Given the description of an element on the screen output the (x, y) to click on. 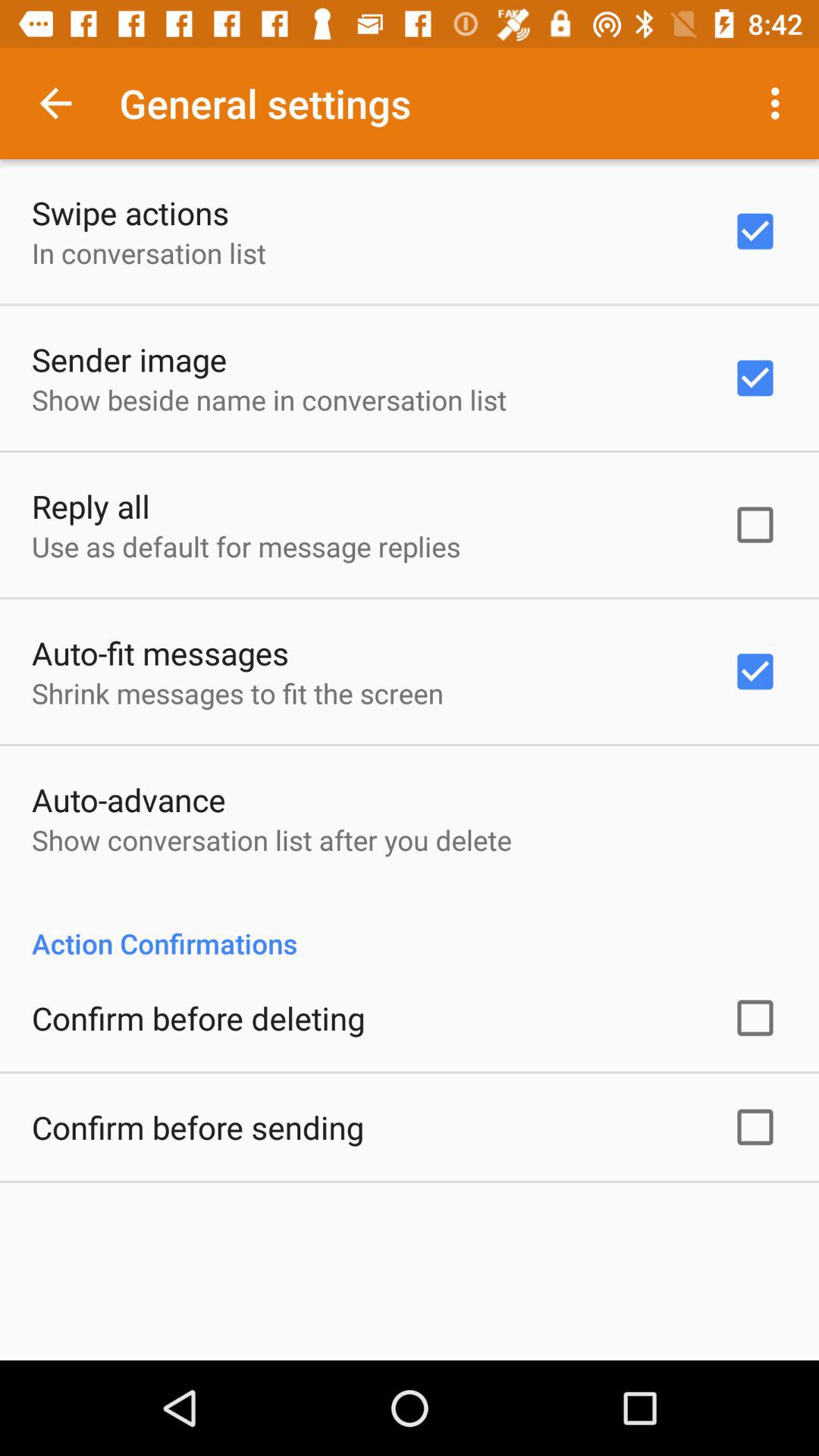
launch icon above show beside name icon (128, 359)
